Given the description of an element on the screen output the (x, y) to click on. 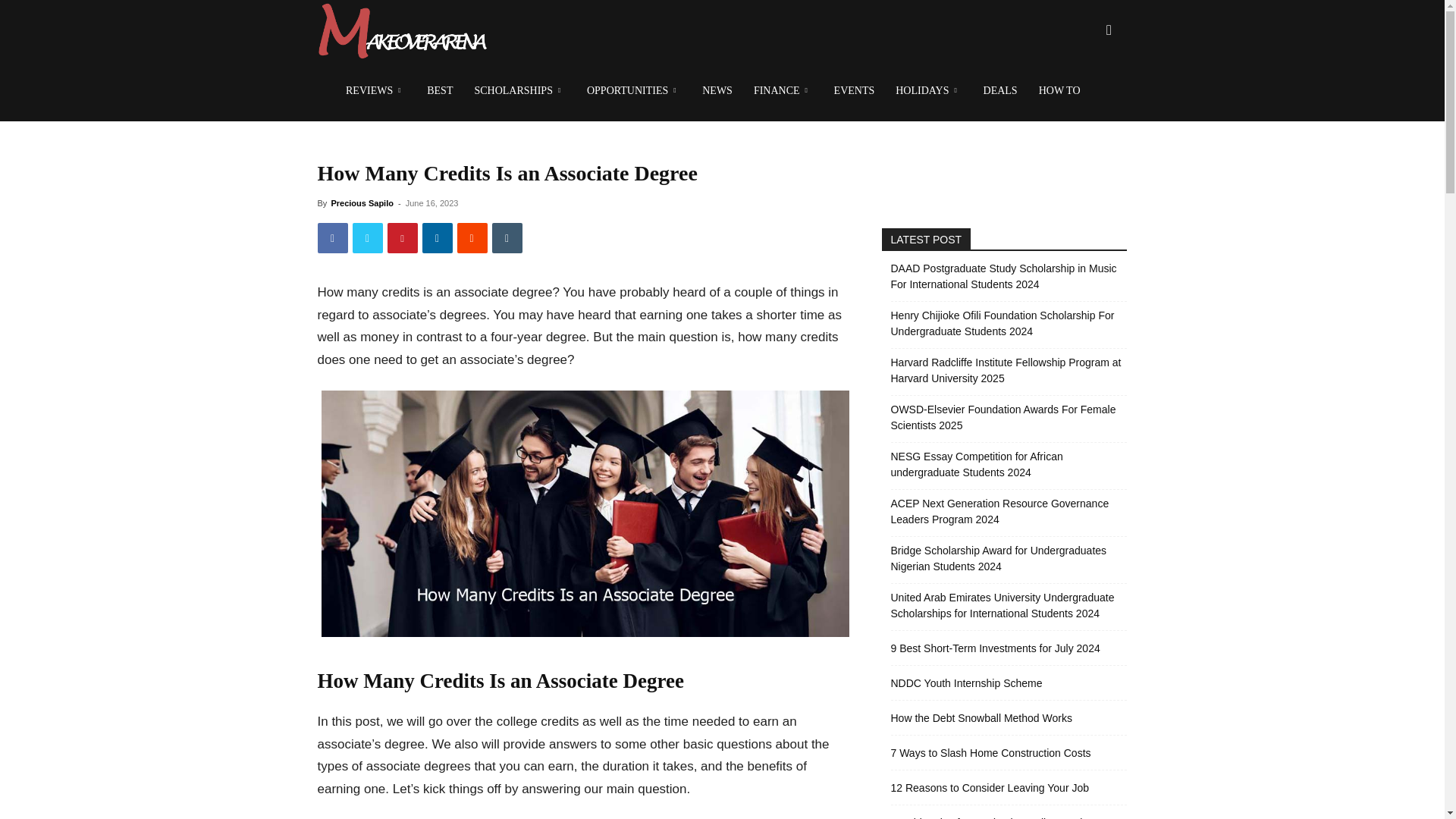
Tumblr (506, 237)
ReddIt (471, 237)
Linkedin (436, 237)
Twitter (366, 237)
Facebook (332, 237)
Pinterest (401, 237)
